Given the description of an element on the screen output the (x, y) to click on. 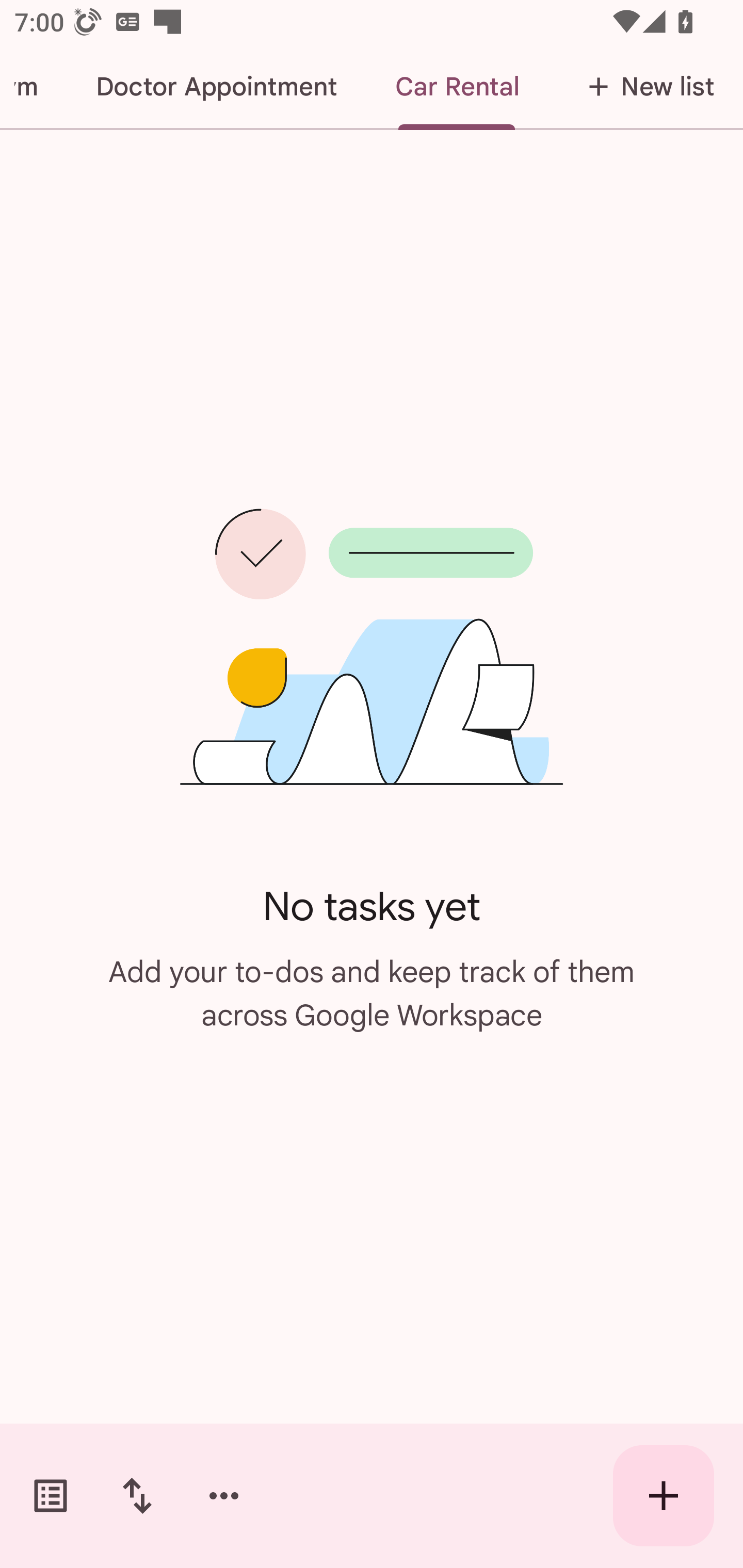
Doctor Appointment (215, 86)
New list (645, 86)
Switch task lists (50, 1495)
Create new task (663, 1495)
Change sort order (136, 1495)
More options (223, 1495)
